Given the description of an element on the screen output the (x, y) to click on. 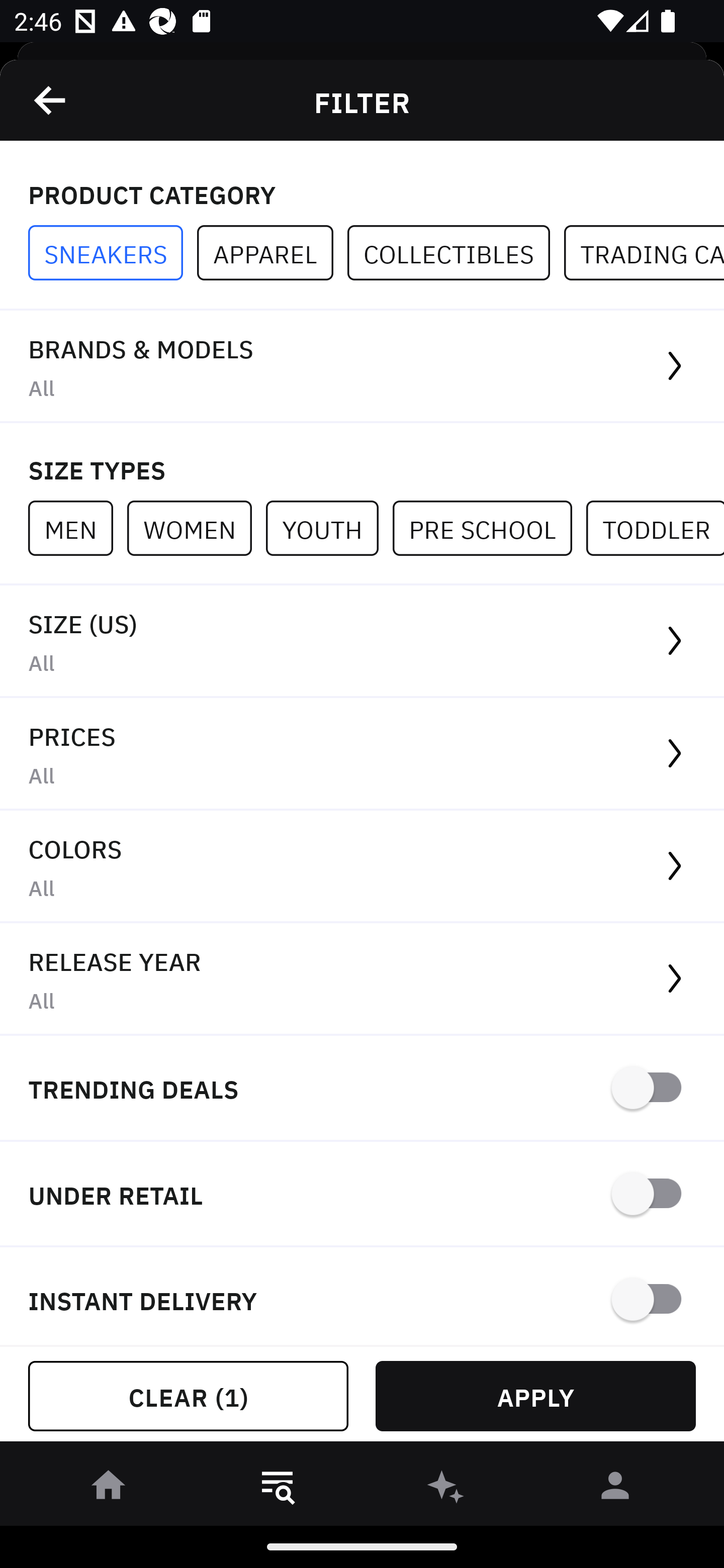
 (50, 100)
SNEAKERS (112, 252)
APPAREL (271, 252)
COLLECTIBLES (455, 252)
TRADING CARDS (643, 252)
BRANDS & MODELS All (362, 366)
MEN (77, 527)
WOMEN (196, 527)
YOUTH (328, 527)
PRE SCHOOL (489, 527)
TODDLER (655, 527)
SIZE (US) All (362, 640)
PRICES All (362, 753)
COLORS All (362, 866)
RELEASE YEAR All (362, 979)
TRENDING DEALS (362, 1088)
UNDER RETAIL (362, 1194)
INSTANT DELIVERY (362, 1296)
CLEAR (1) (188, 1396)
APPLY (535, 1396)
󰋜 (108, 1488)
󱎸 (277, 1488)
󰫢 (446, 1488)
󰀄 (615, 1488)
